Given the description of an element on the screen output the (x, y) to click on. 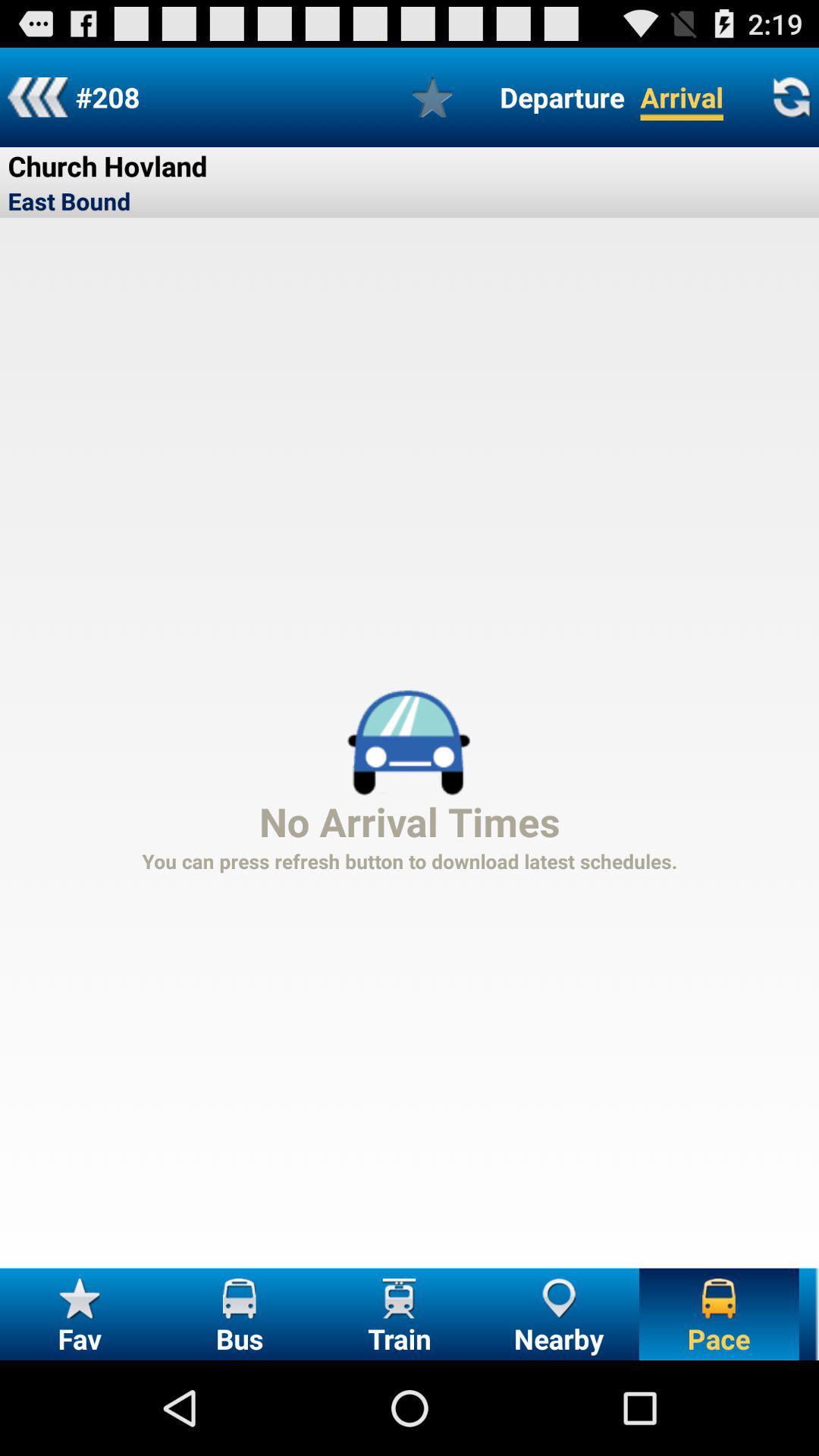
mark as favorite (432, 97)
